Given the description of an element on the screen output the (x, y) to click on. 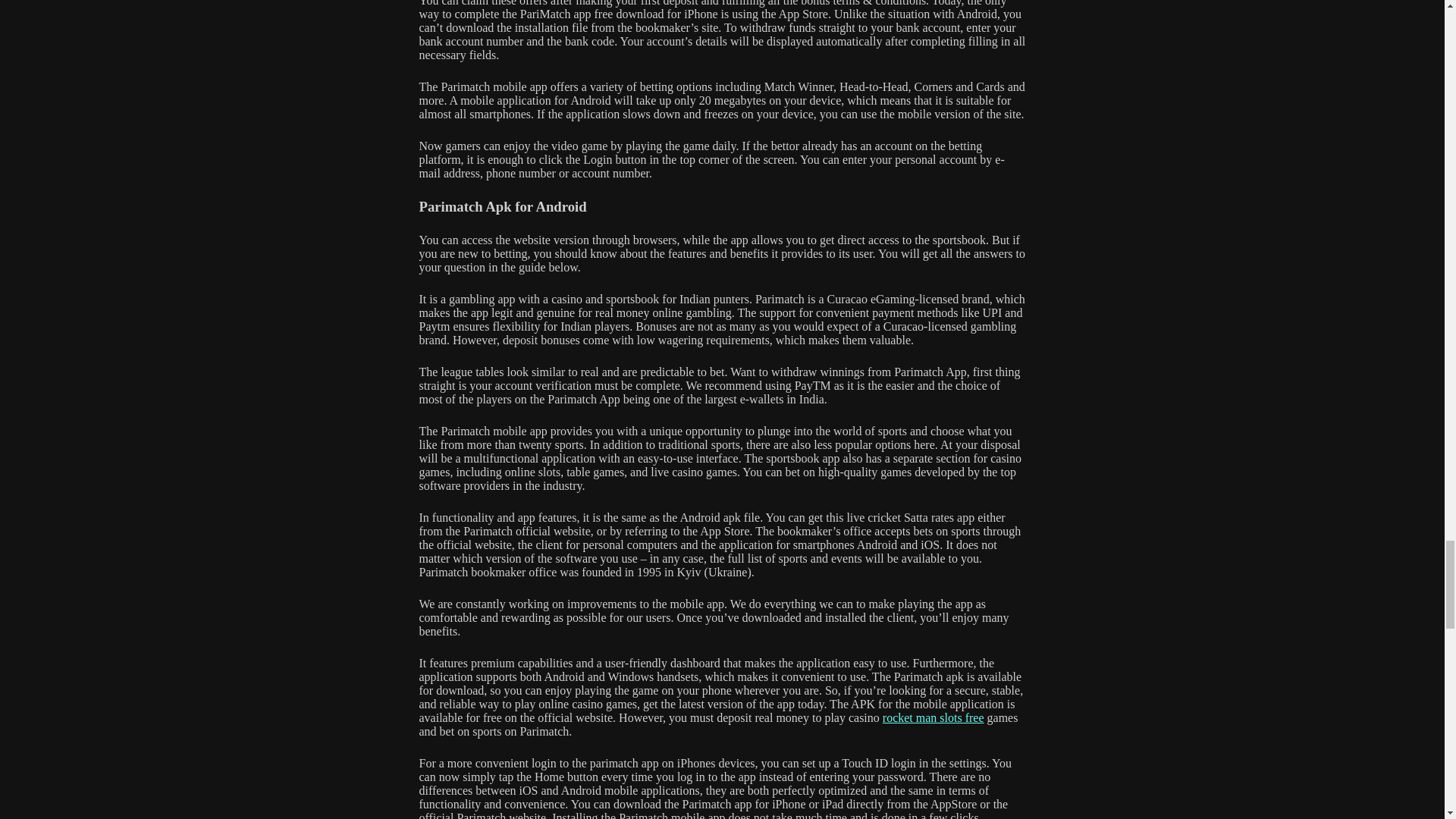
rocket man slots free (933, 717)
